Given the description of an element on the screen output the (x, y) to click on. 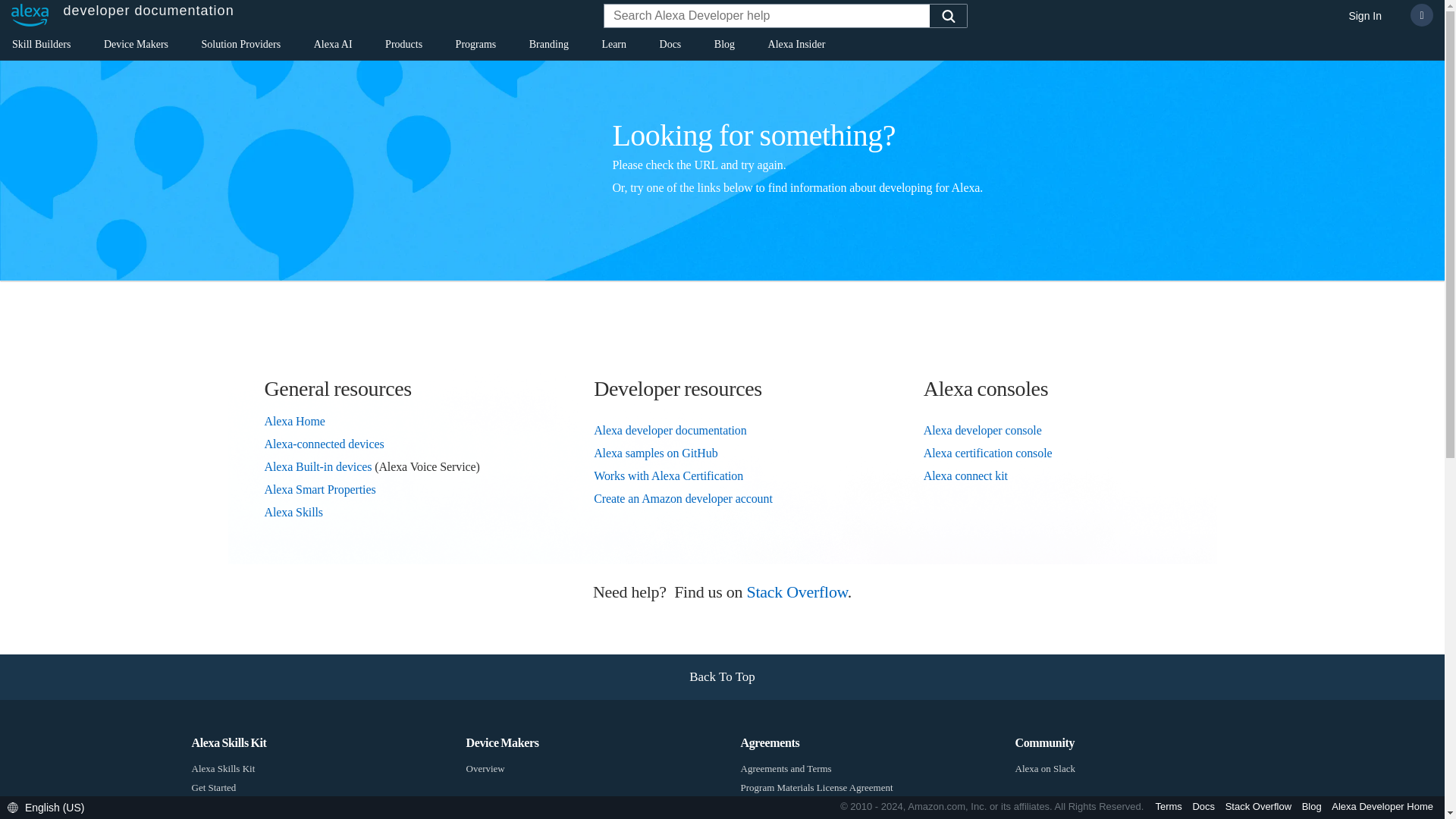
Products (403, 47)
Skill Builders (40, 47)
developer documentation (118, 15)
Sign In (1364, 17)
Solution Providers (241, 47)
Insert a query. Press enter to send (767, 17)
Device Makers (135, 47)
Alexa AI (333, 47)
